Given the description of an element on the screen output the (x, y) to click on. 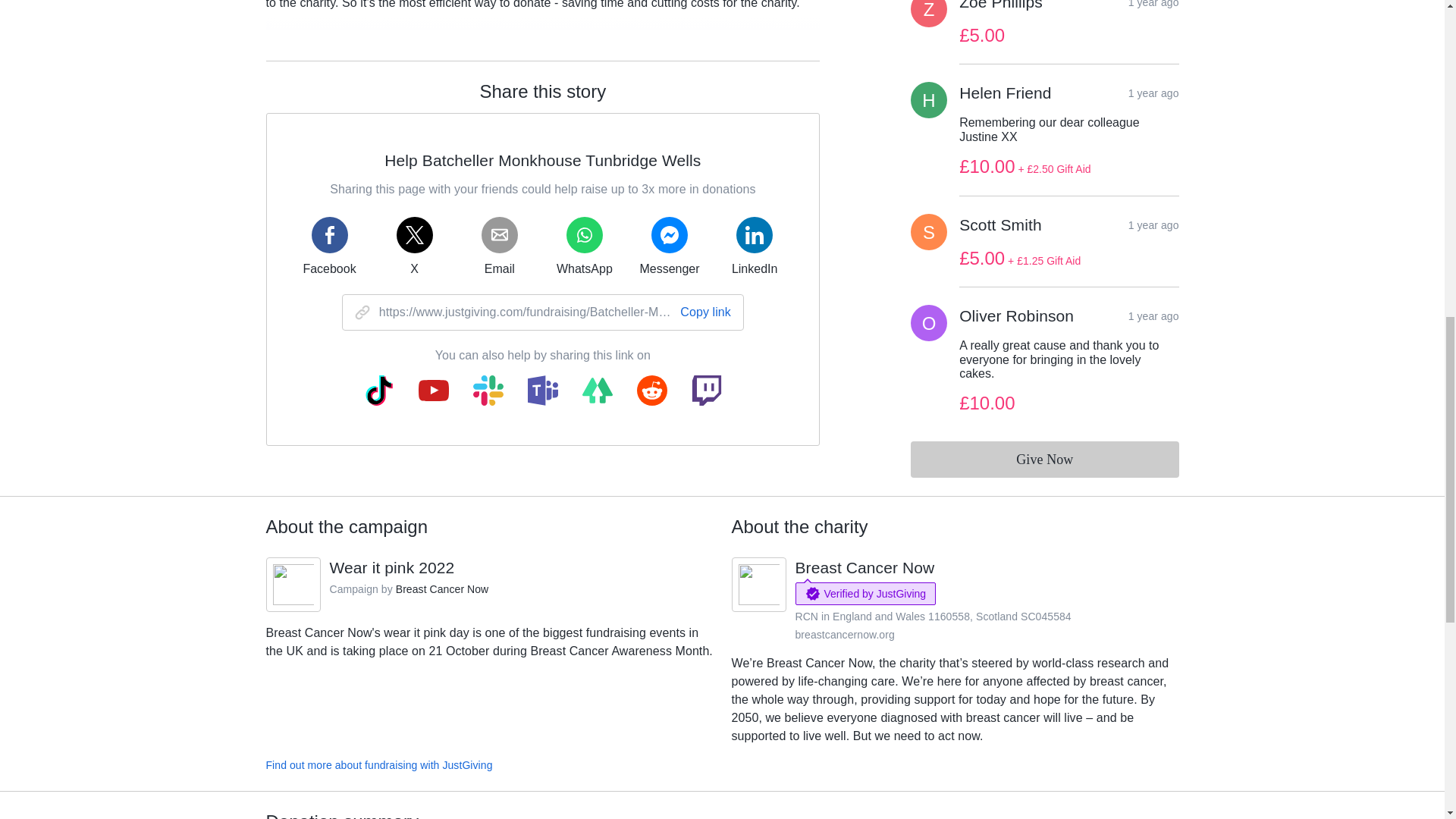
Breast Cancer Now (864, 567)
WhatsApp (584, 246)
Breast Cancer Now (442, 589)
Facebook (329, 246)
Messenger (669, 246)
Email (499, 246)
X (414, 246)
Wear it pink 2022 (391, 567)
LinkedIn (754, 246)
